Given the description of an element on the screen output the (x, y) to click on. 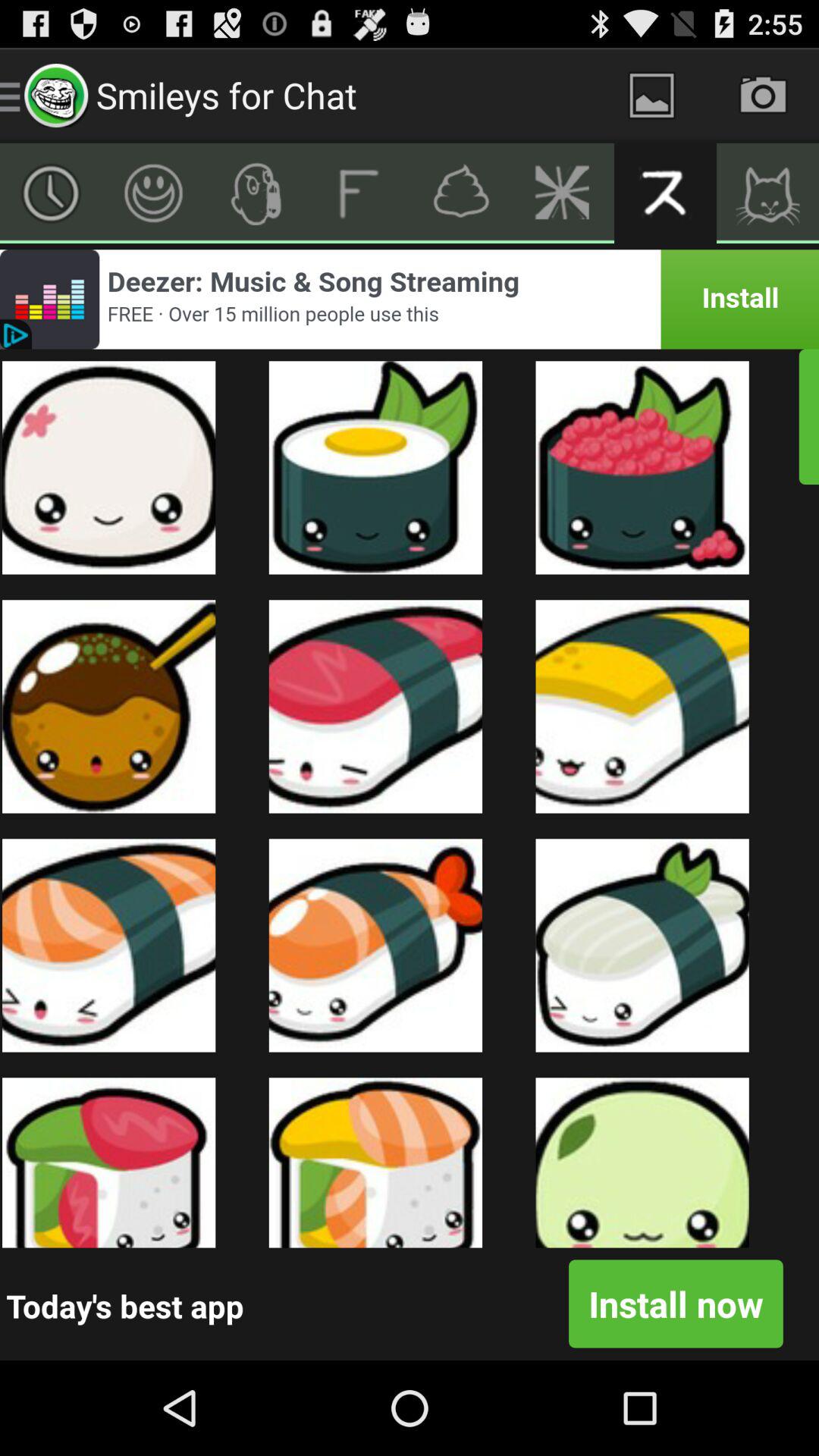
style image (255, 193)
